Given the description of an element on the screen output the (x, y) to click on. 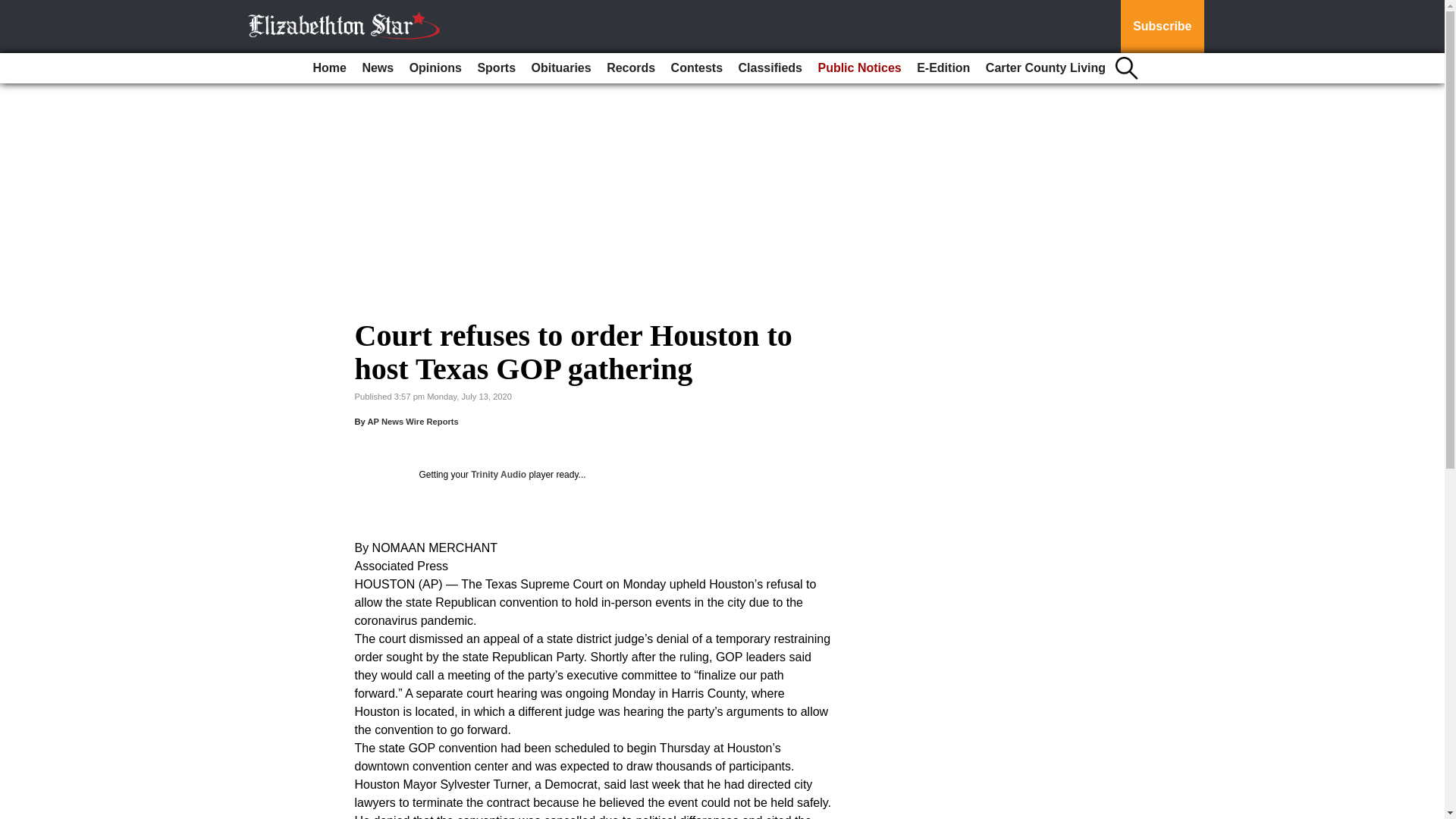
Classifieds (770, 68)
Obituaries (560, 68)
Go (13, 9)
Sports (495, 68)
Opinions (435, 68)
Trinity Audio (497, 474)
News (376, 68)
E-Edition (943, 68)
Home (328, 68)
Contests (697, 68)
Public Notices (858, 68)
AP News Wire Reports (412, 420)
Subscribe (1162, 26)
Carter County Living (1045, 68)
Records (630, 68)
